Given the description of an element on the screen output the (x, y) to click on. 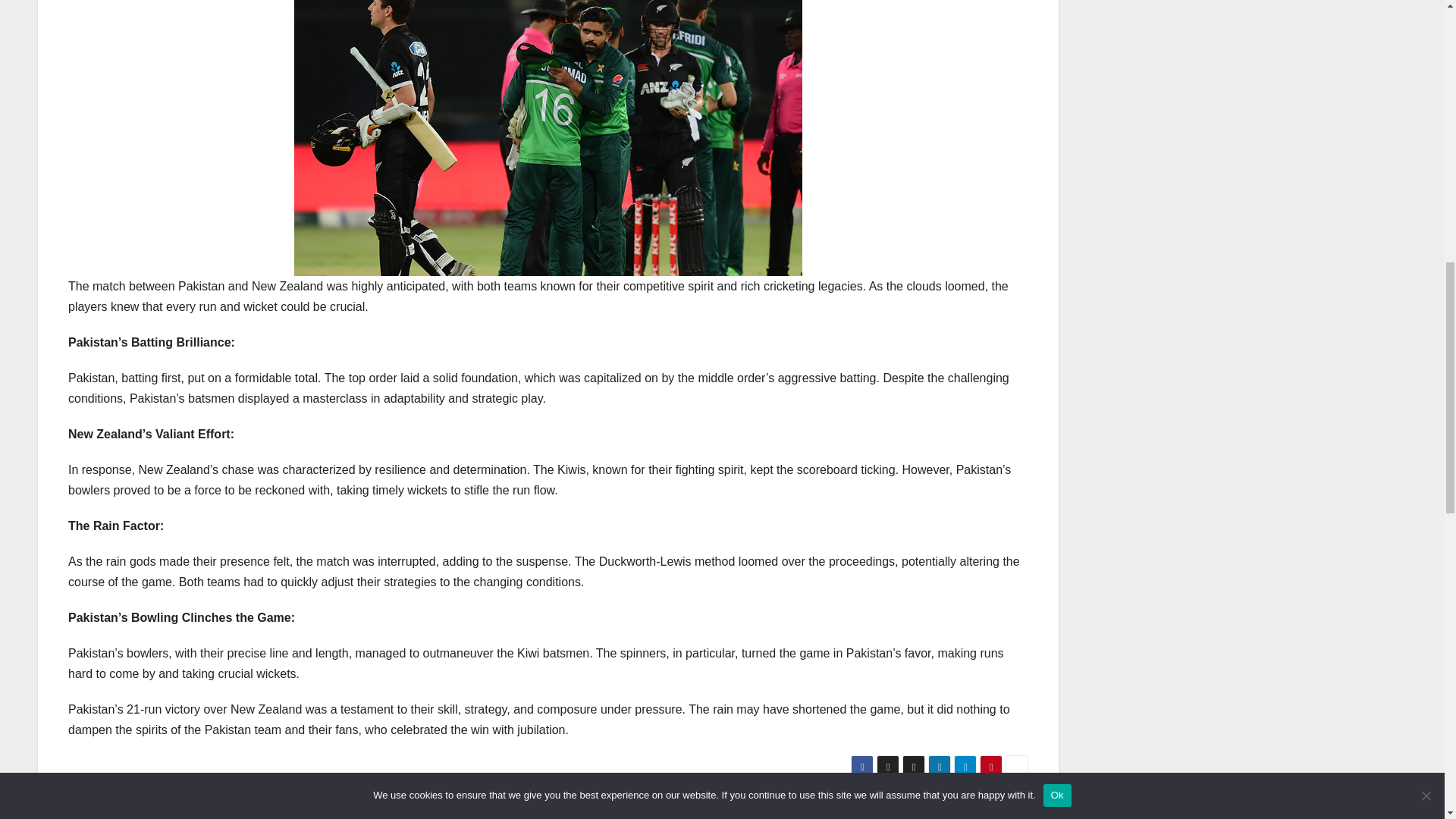
BTS: The New Ambassadors of High-End Fashion and Tech (825, 806)
